Given the description of an element on the screen output the (x, y) to click on. 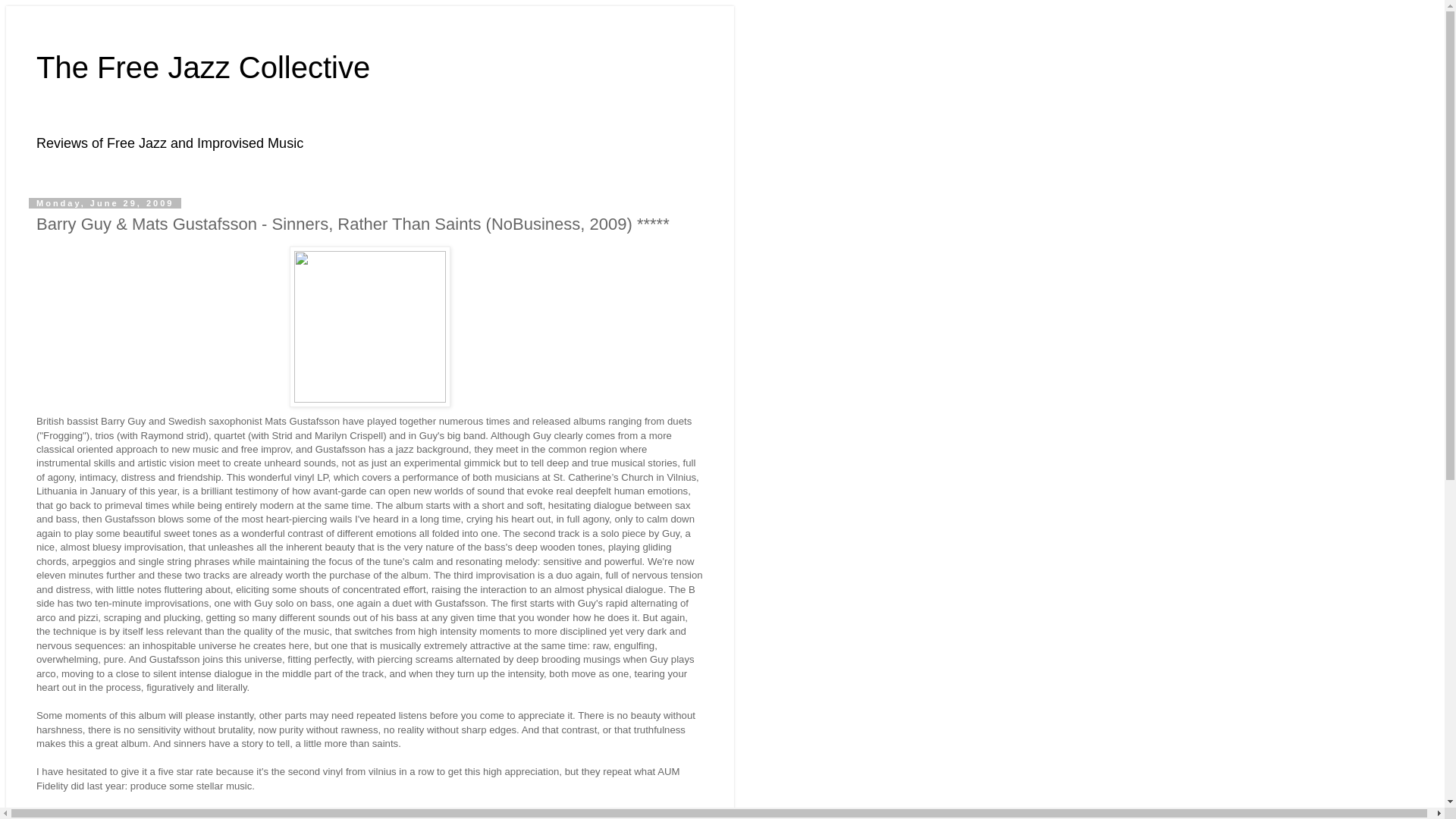
The Free Jazz Collective (202, 67)
Instantjazz (102, 813)
